Given the description of an element on the screen output the (x, y) to click on. 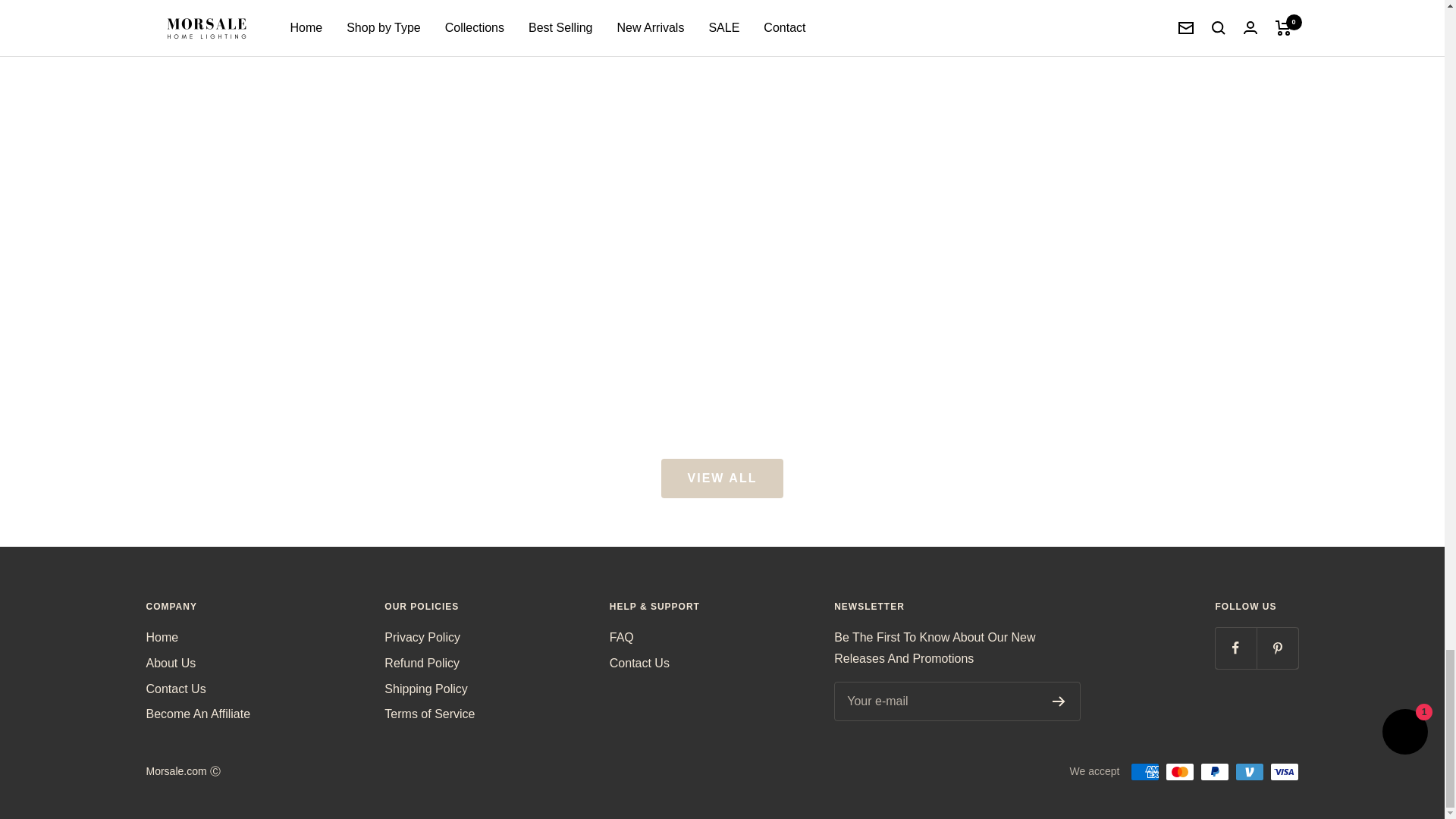
Register (1058, 701)
